Given the description of an element on the screen output the (x, y) to click on. 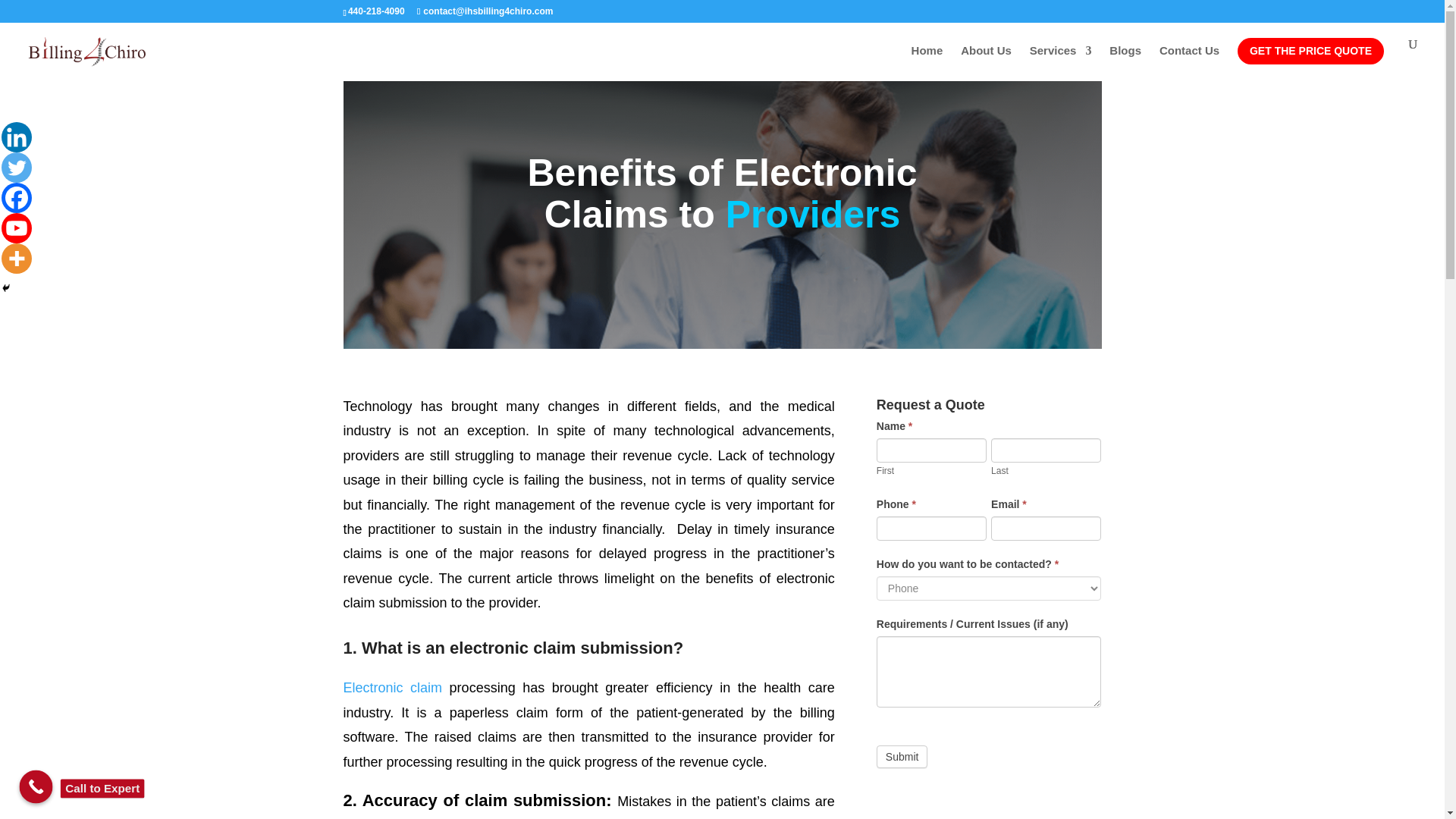
Services (1060, 63)
More (16, 258)
Blogs (1125, 63)
Contact Us (1189, 63)
Facebook (16, 197)
Youtube (16, 227)
About Us (985, 63)
Home (927, 63)
Twitter (16, 167)
GET THE PRICE QUOTE (1310, 50)
